Given the description of an element on the screen output the (x, y) to click on. 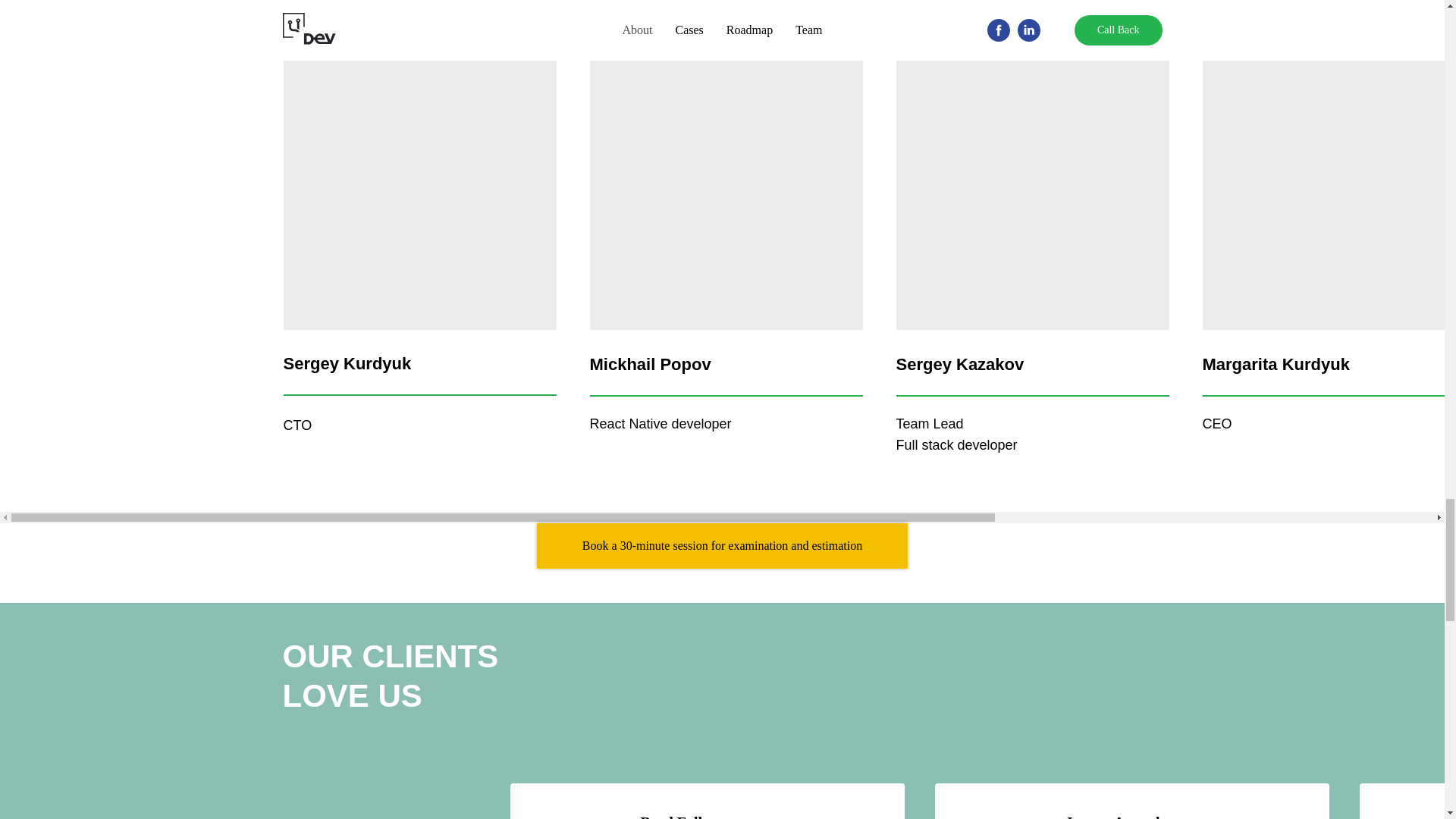
Book a 30-minute session for examination and estimation (722, 545)
